Given the description of an element on the screen output the (x, y) to click on. 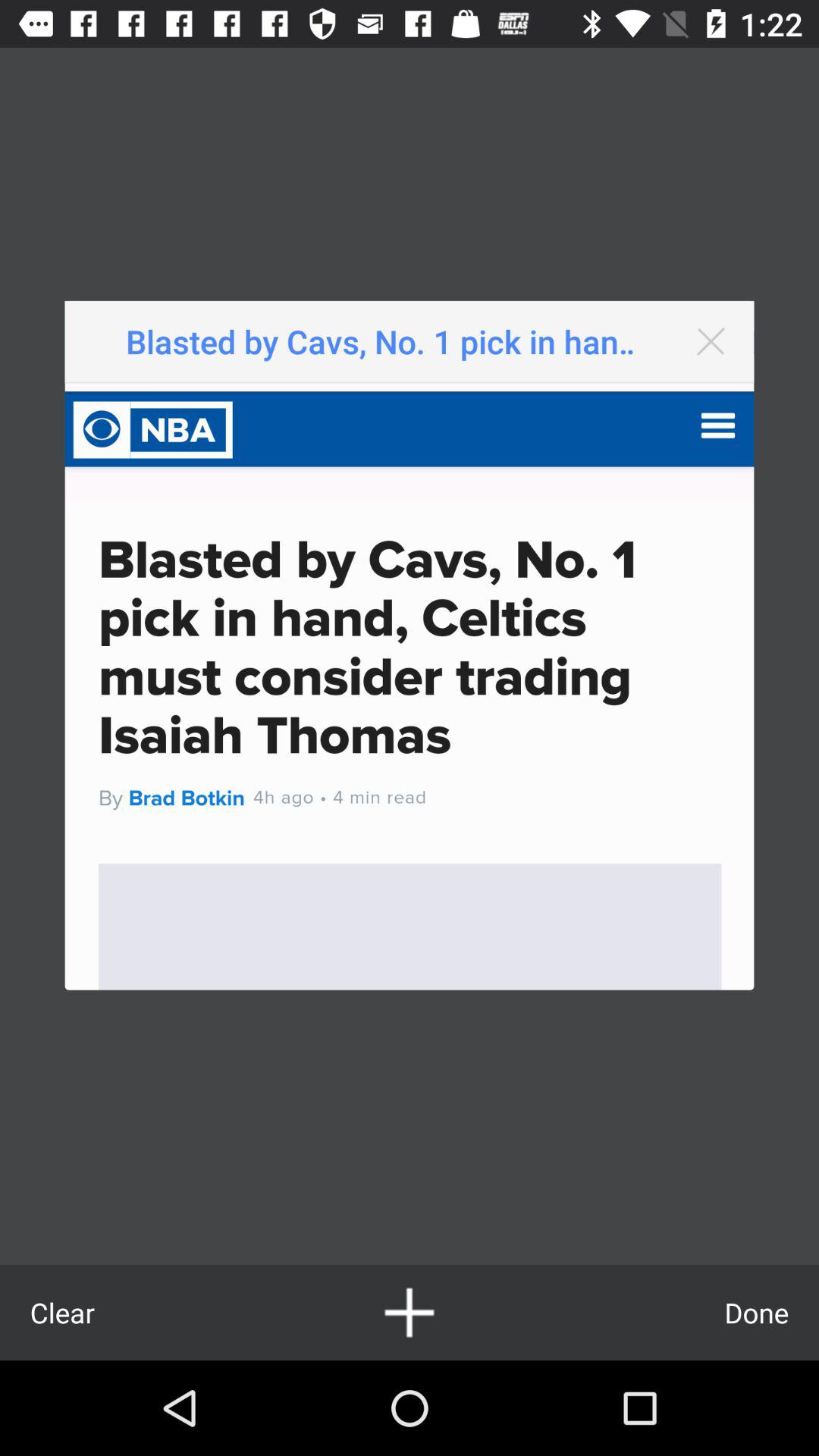
launch the icon to the right of clear (409, 1312)
